Given the description of an element on the screen output the (x, y) to click on. 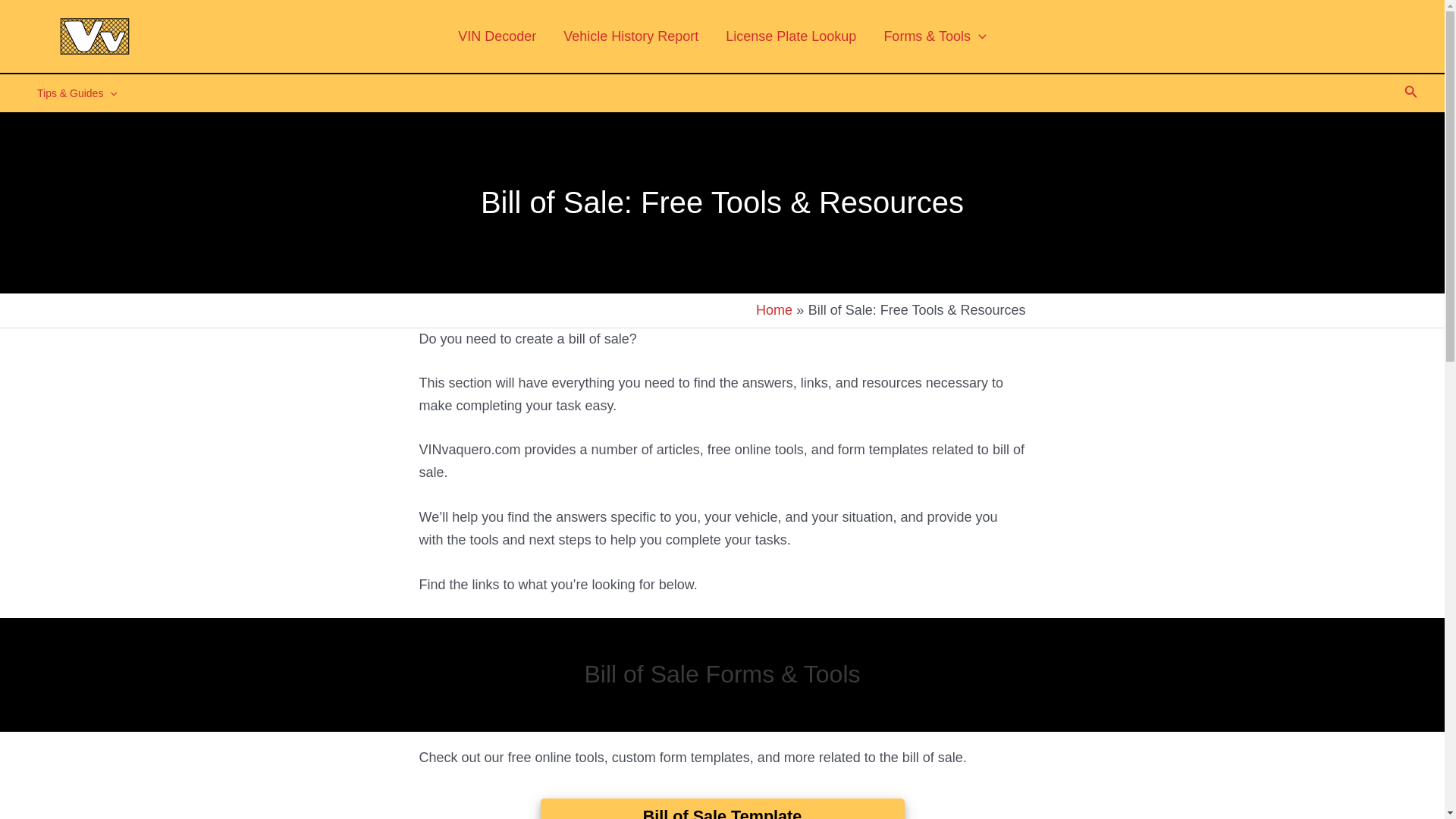
License Plate Lookup (790, 36)
VIN Decoder (497, 36)
Vehicle History Report (630, 36)
